Given the description of an element on the screen output the (x, y) to click on. 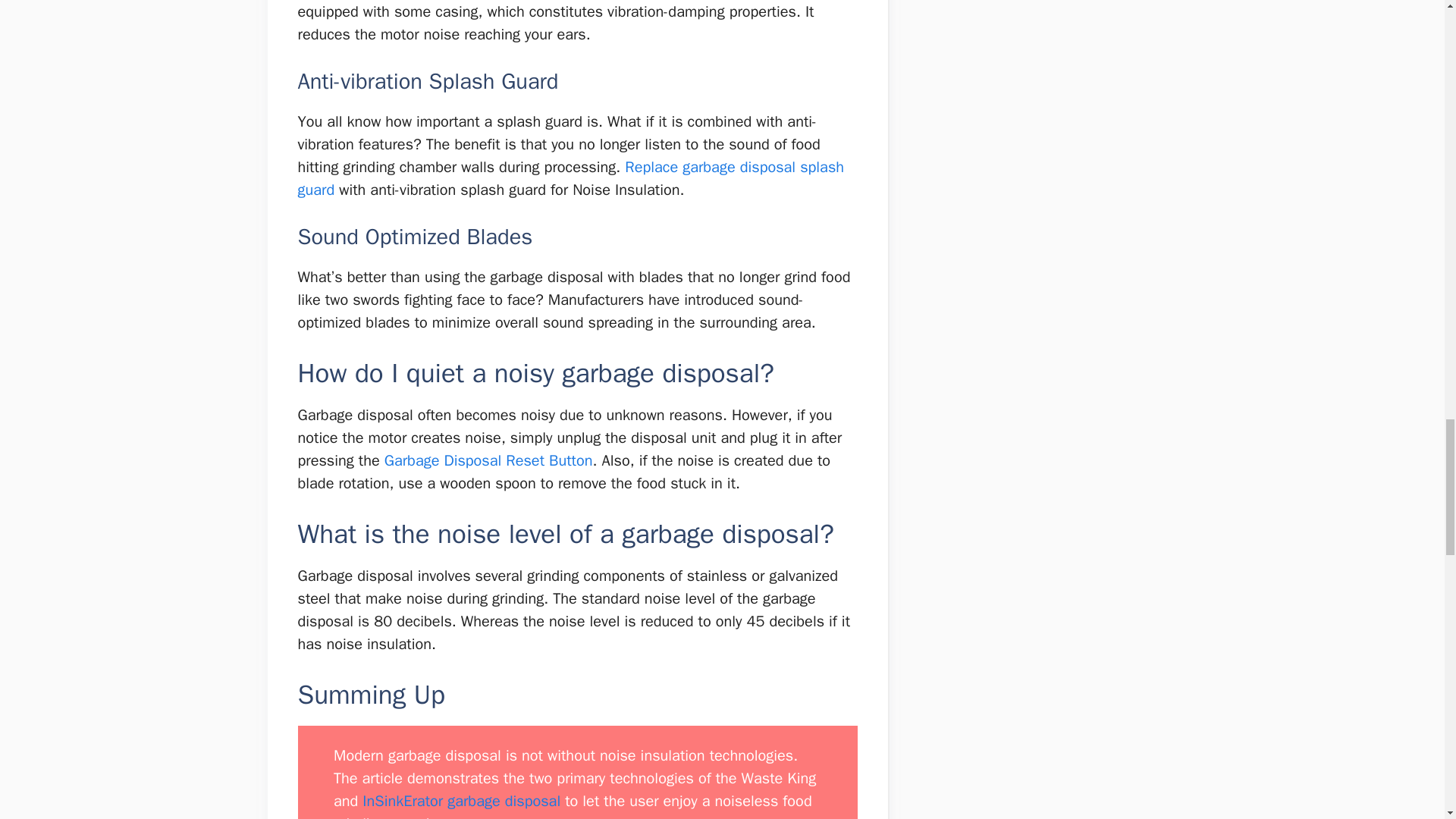
Garbage Disposal Reset Button (488, 460)
Replace garbage disposal splash guard (570, 178)
InSinkErator garbage disposal (461, 800)
